Given the description of an element on the screen output the (x, y) to click on. 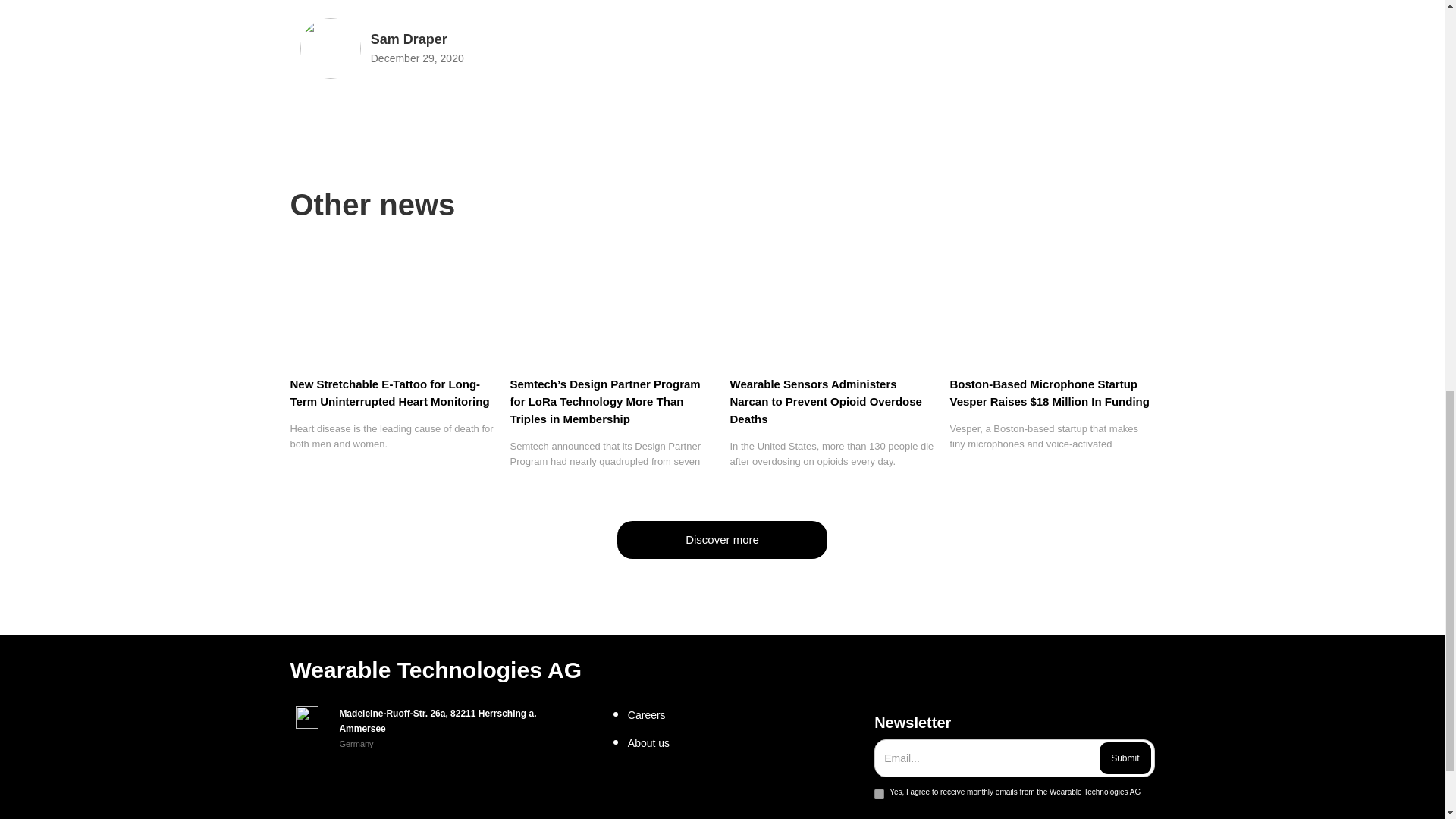
Careers (744, 714)
Discover more (722, 539)
About us (744, 743)
Submit (1124, 757)
Submit (1124, 757)
